Given the description of an element on the screen output the (x, y) to click on. 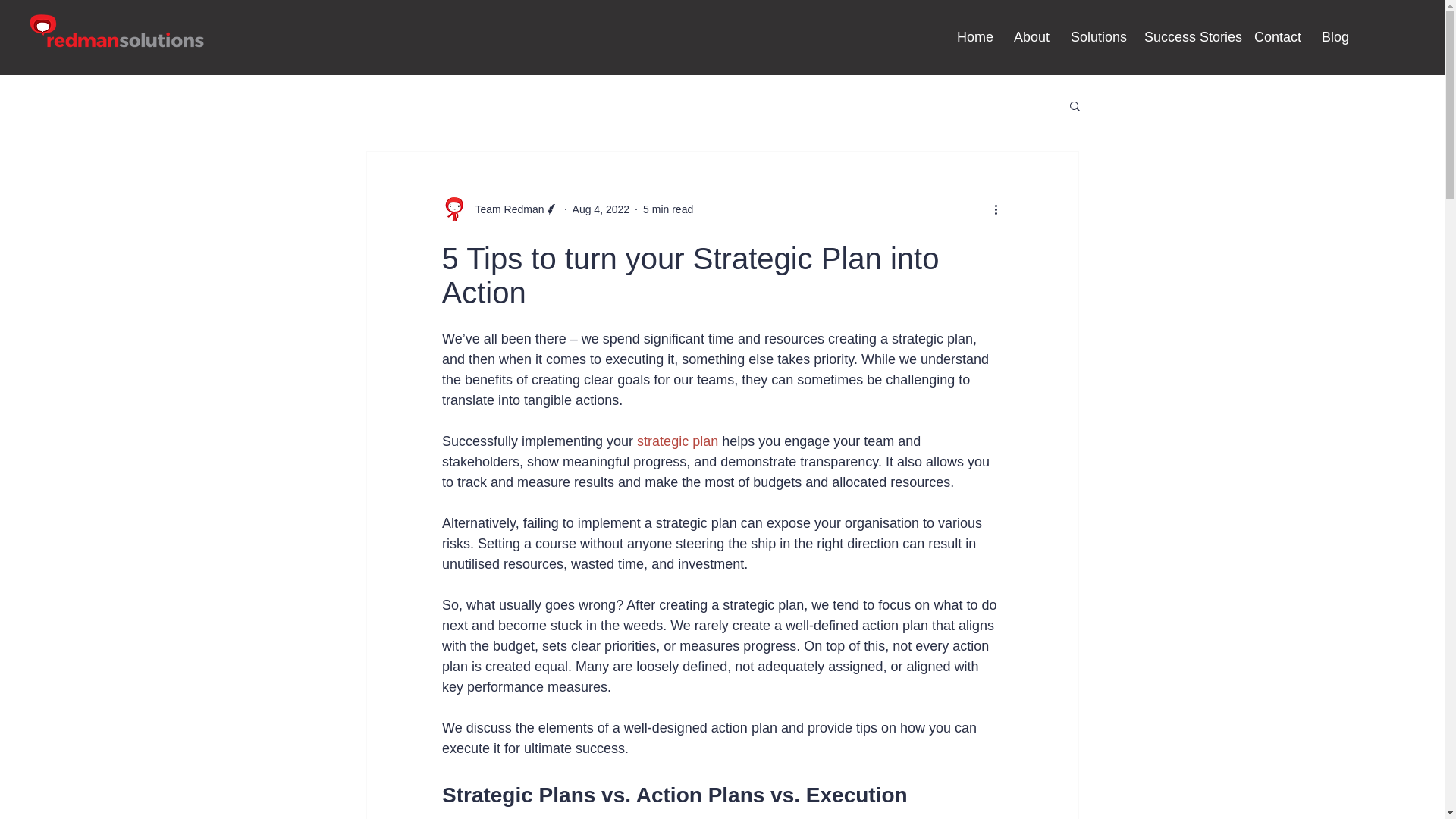
Team Redman (504, 209)
strategic plan (677, 441)
Home (973, 36)
Blog (1334, 36)
Solutions (1095, 36)
5 min read (668, 209)
Aug 4, 2022 (601, 209)
Contact (1276, 36)
Success Stories (1187, 36)
About (1031, 36)
